Given the description of an element on the screen output the (x, y) to click on. 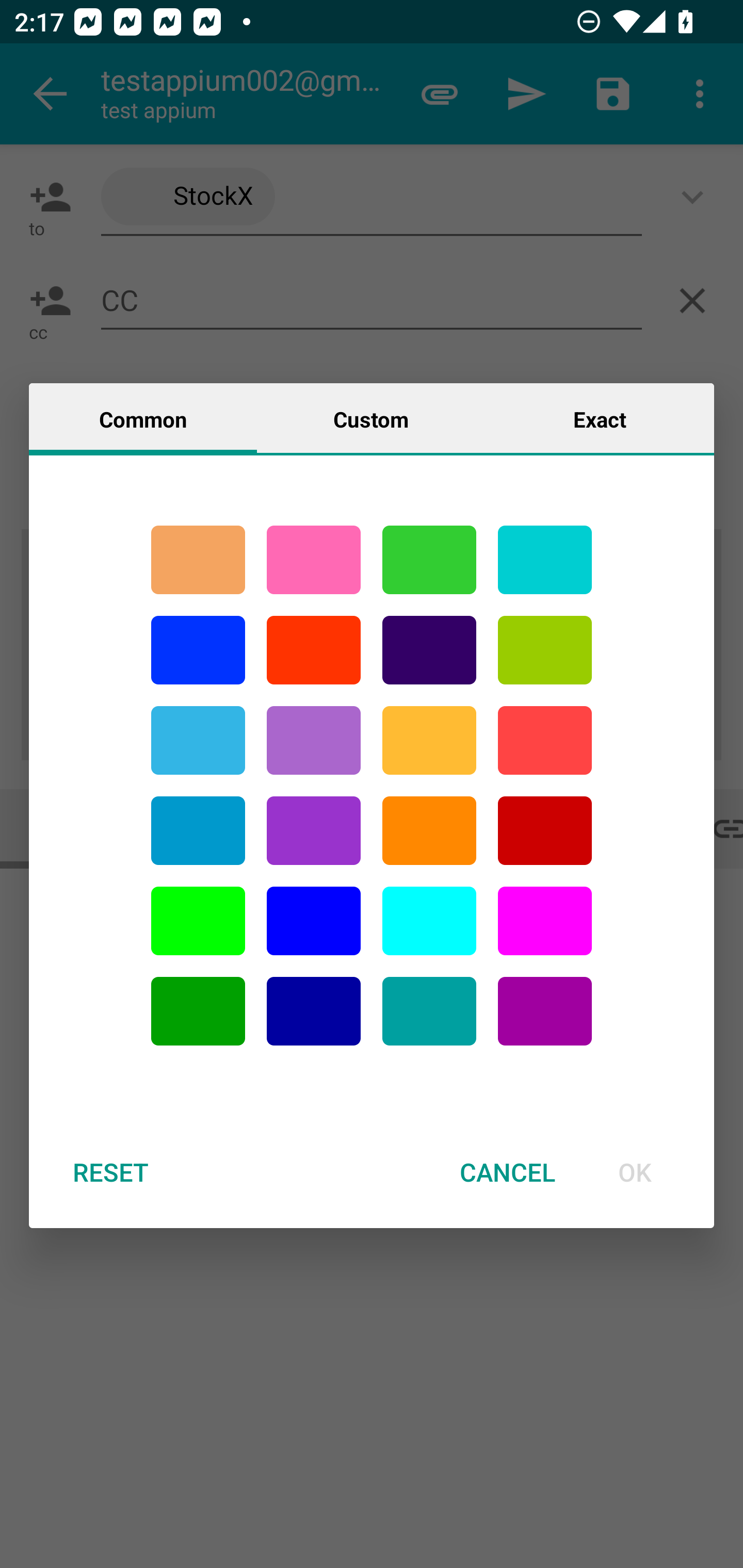
Common (142, 418)
Custom (371, 418)
Exact (599, 418)
Peach (197, 559)
Pink (313, 559)
Green (429, 559)
Cyan (544, 559)
Blue (197, 649)
Red (313, 649)
Dark purple (429, 649)
Light green (544, 649)
Cyan (197, 739)
Purple (313, 739)
Light orange (429, 739)
Light red (544, 739)
Dark cyan (197, 830)
Purple (313, 830)
Orange (429, 830)
Dark red (544, 830)
Light green (197, 920)
Blue (313, 920)
Light cyan (429, 920)
Light purple (544, 920)
Dark green (197, 1010)
Dark blue (313, 1010)
Cyan (429, 1010)
Purple (544, 1010)
RESET (110, 1171)
CANCEL (507, 1171)
OK (634, 1171)
